Given the description of an element on the screen output the (x, y) to click on. 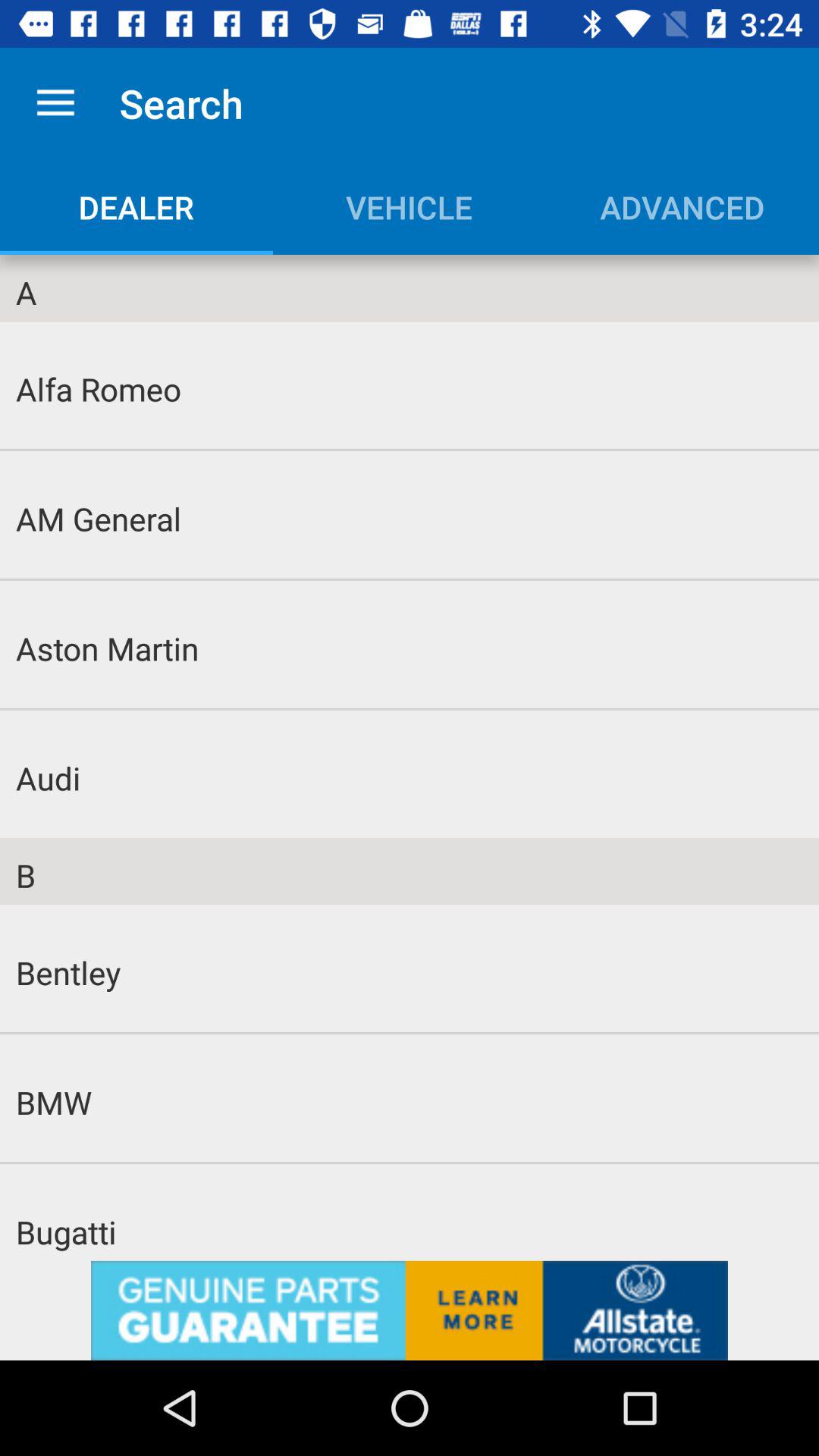
tap item above dealer item (55, 103)
